Given the description of an element on the screen output the (x, y) to click on. 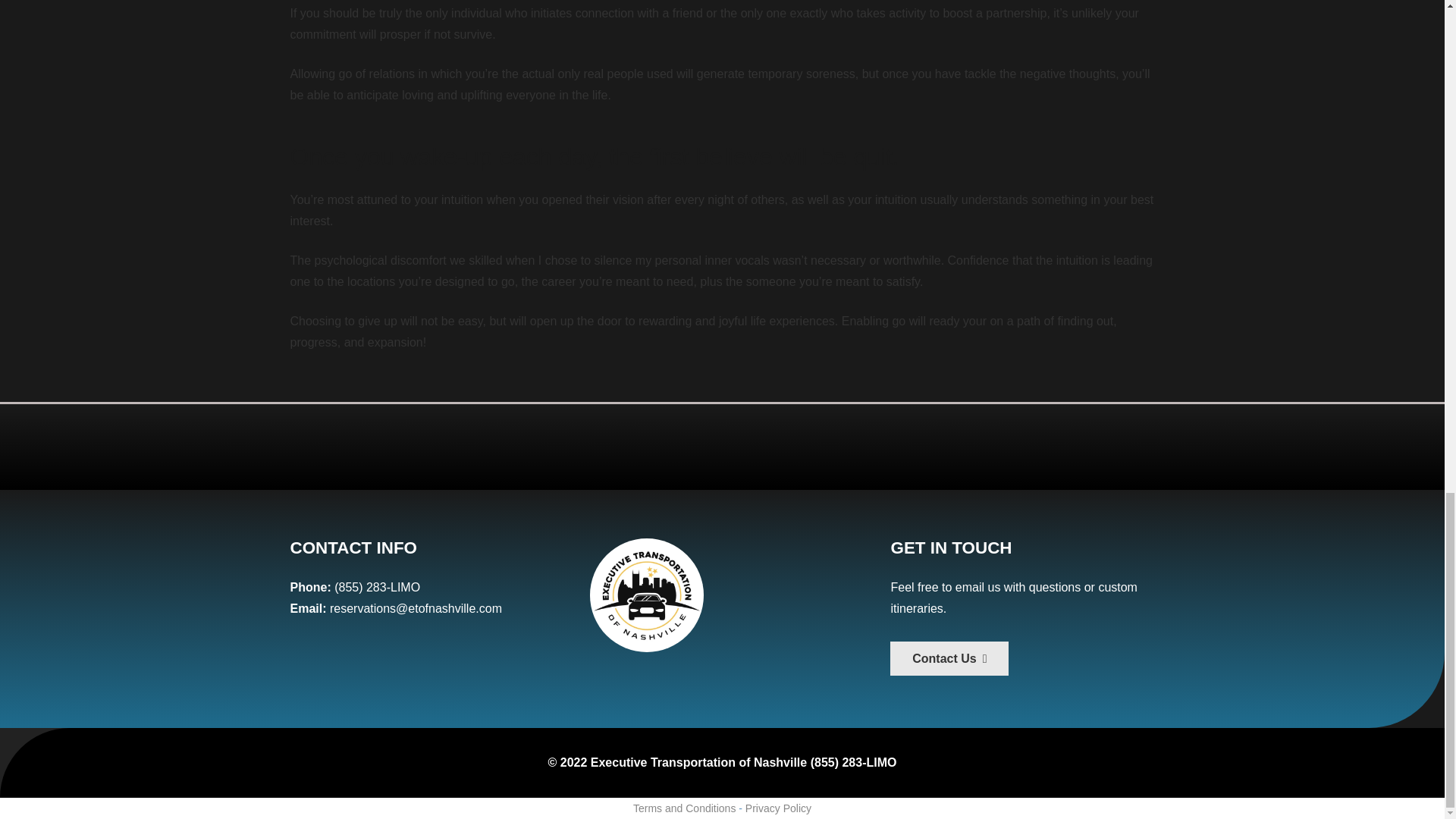
Contact Us (949, 658)
Terms and Conditions (684, 808)
Privacy Policy (777, 808)
